Given the description of an element on the screen output the (x, y) to click on. 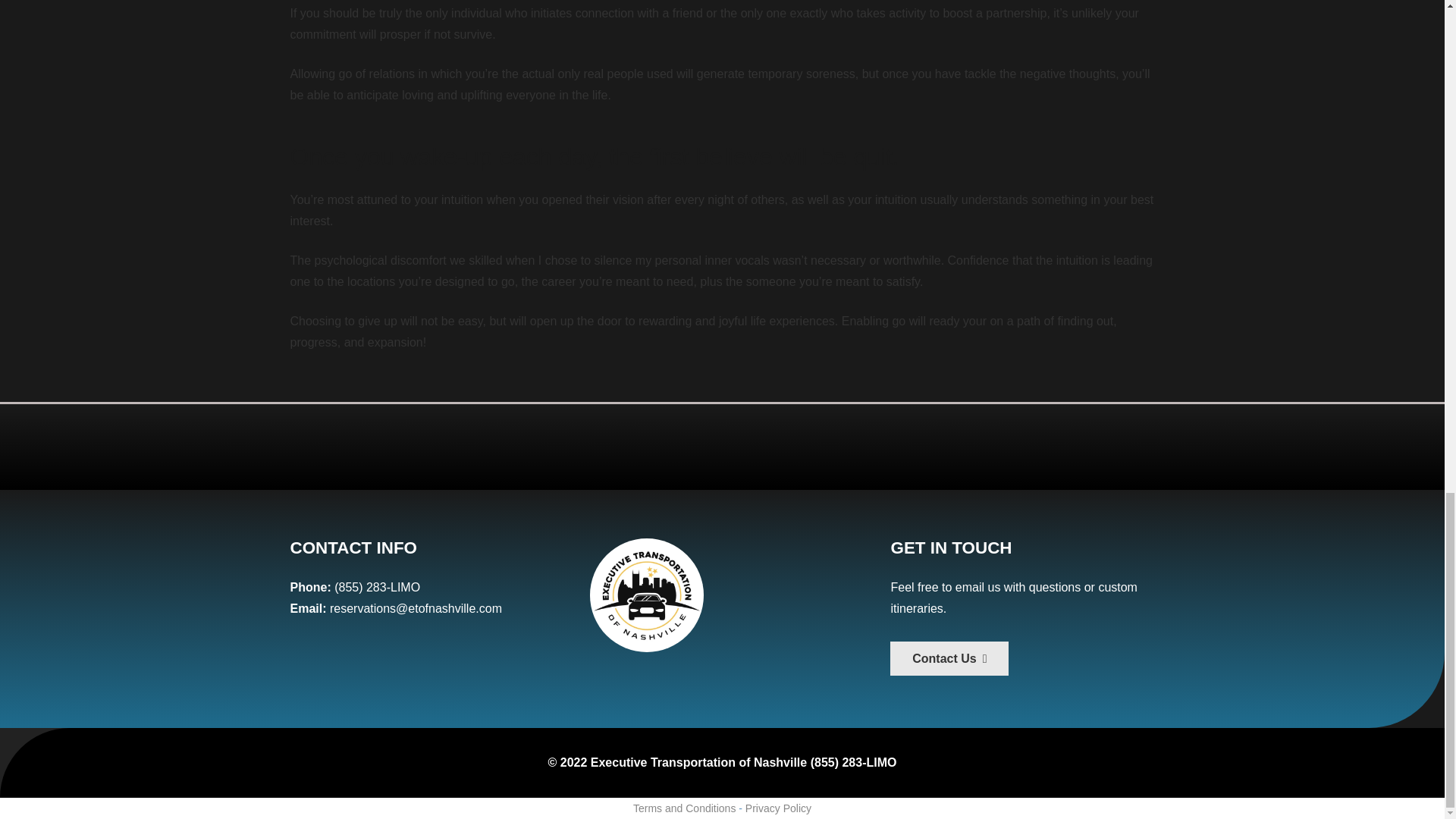
Contact Us (949, 658)
Terms and Conditions (684, 808)
Privacy Policy (777, 808)
